Given the description of an element on the screen output the (x, y) to click on. 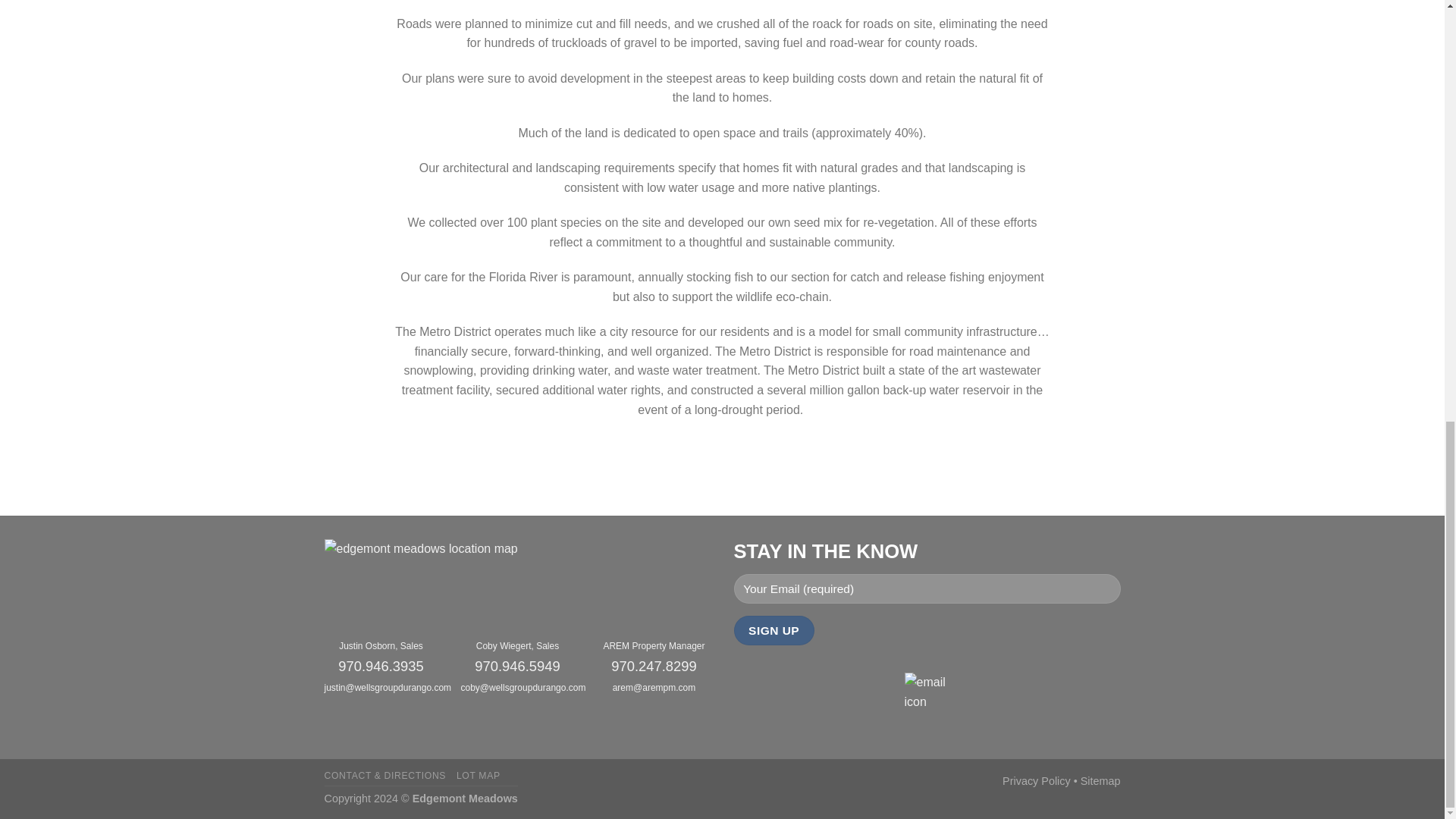
Sign Up (773, 630)
Sign Up (773, 630)
LOT MAP (478, 775)
Privacy Policy (1036, 780)
